Given the description of an element on the screen output the (x, y) to click on. 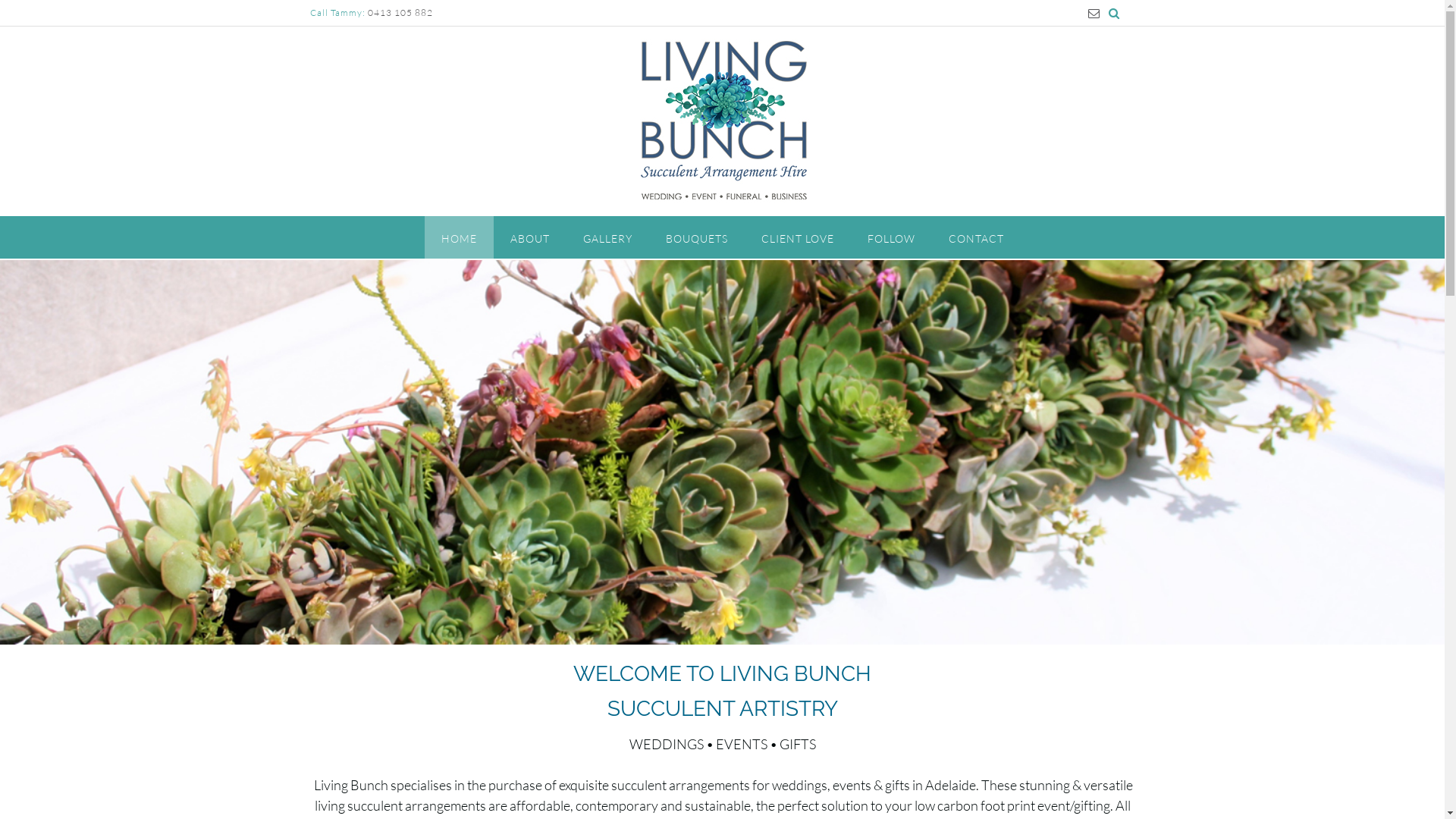
FOLLOW Element type: text (890, 237)
ABOUT Element type: text (528, 237)
BOUQUETS Element type: text (696, 237)
CONTACT Element type: text (975, 237)
CLIENT LOVE Element type: text (797, 237)
Skip to content Element type: text (0, 0)
HOME Element type: text (458, 237)
Send us an email Element type: hover (1093, 12)
GALLERY Element type: text (606, 237)
